Given the description of an element on the screen output the (x, y) to click on. 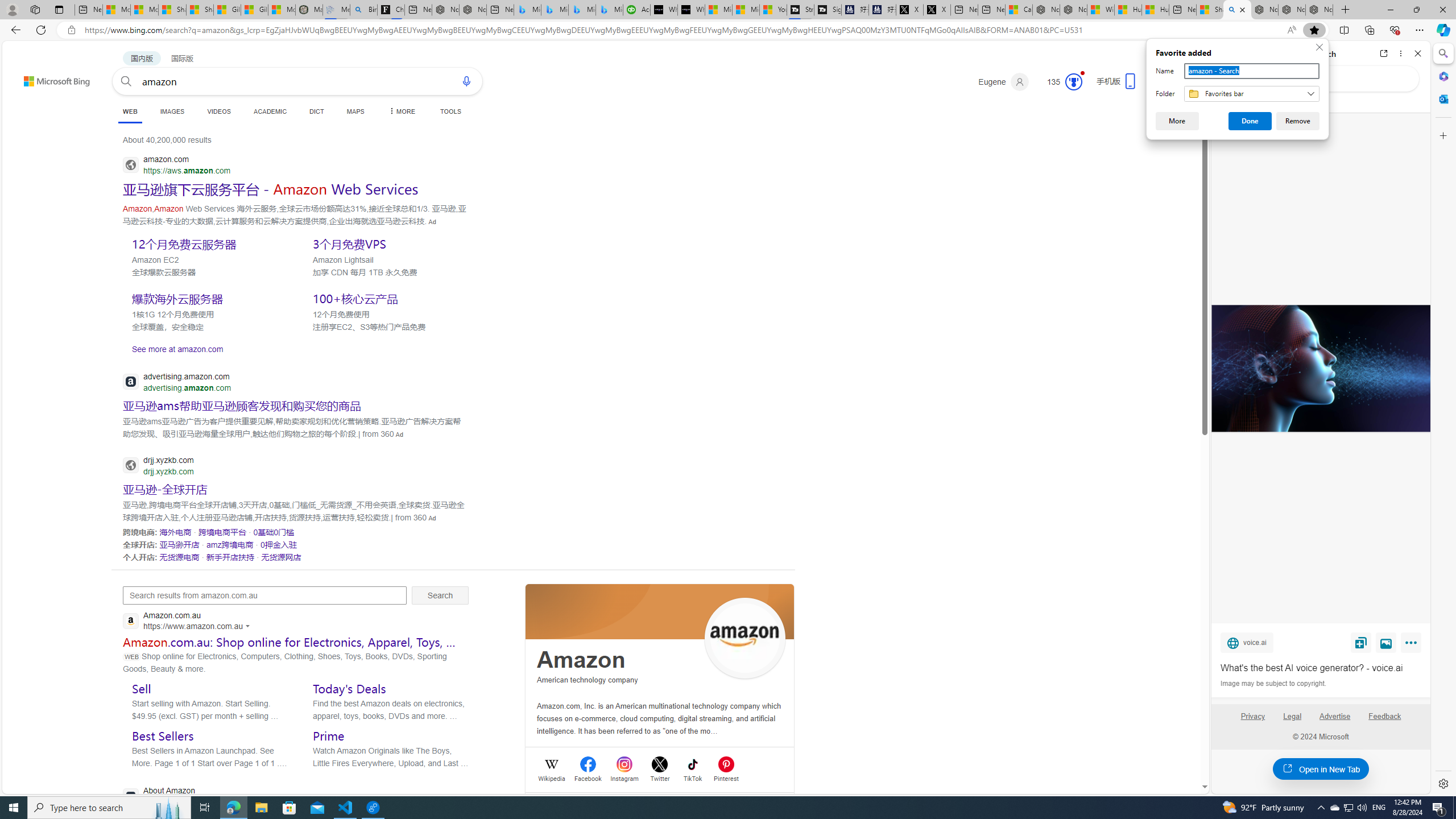
SERP,5552 (207, 298)
Action Center, 1 new notification (1439, 807)
Done (1249, 121)
Folder (1251, 93)
SERP,5570 (229, 544)
Dropdown Menu (400, 111)
About Amazon (226, 796)
WEB (129, 112)
See more images of Amazon (745, 638)
